Given the description of an element on the screen output the (x, y) to click on. 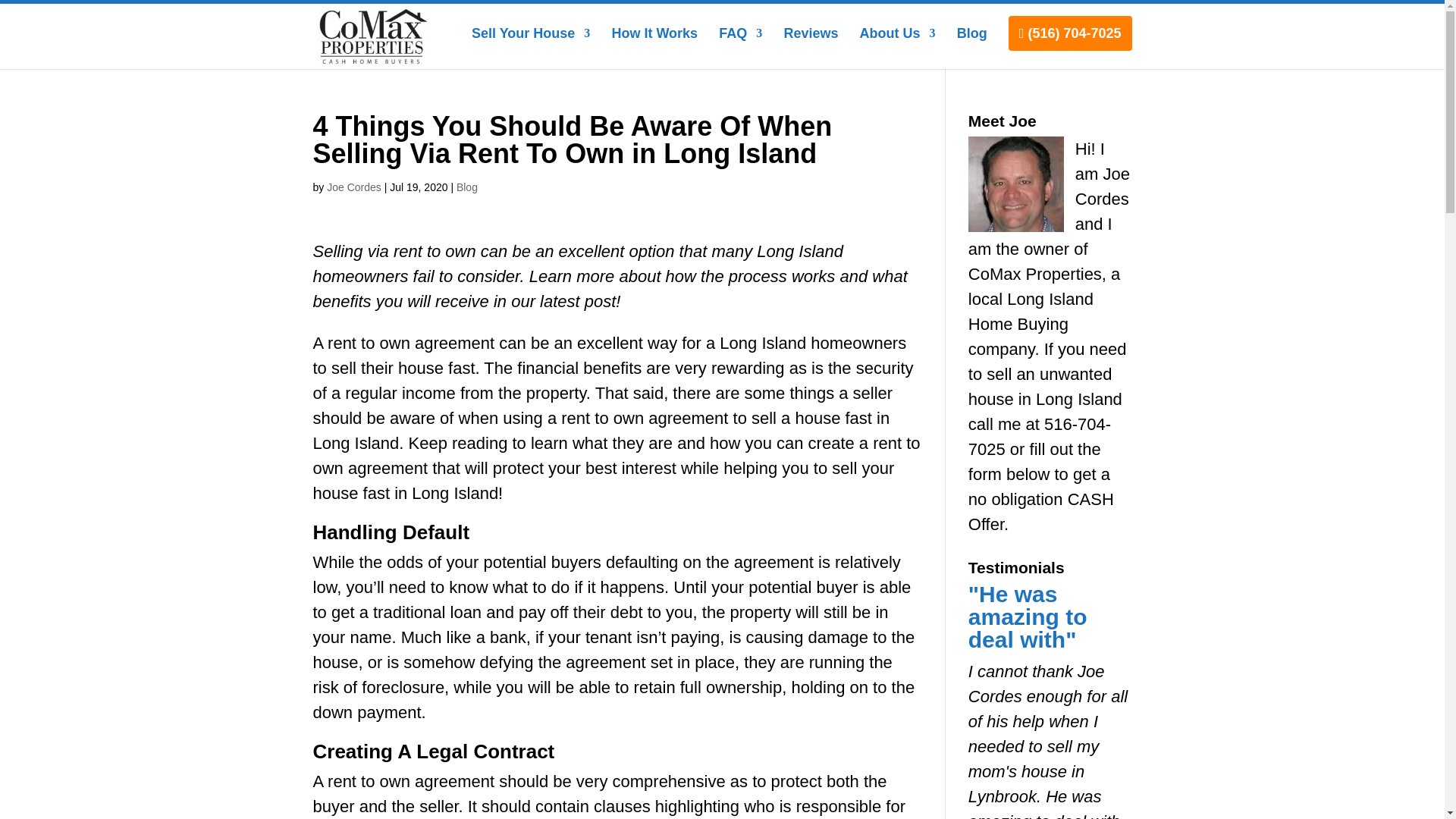
About Us (898, 47)
Reviews (810, 47)
Joe Cordes (353, 186)
How It Works (654, 47)
Blog (467, 186)
Sell Your House (530, 47)
FAQ (740, 47)
Posts by Joe Cordes (353, 186)
